Given the description of an element on the screen output the (x, y) to click on. 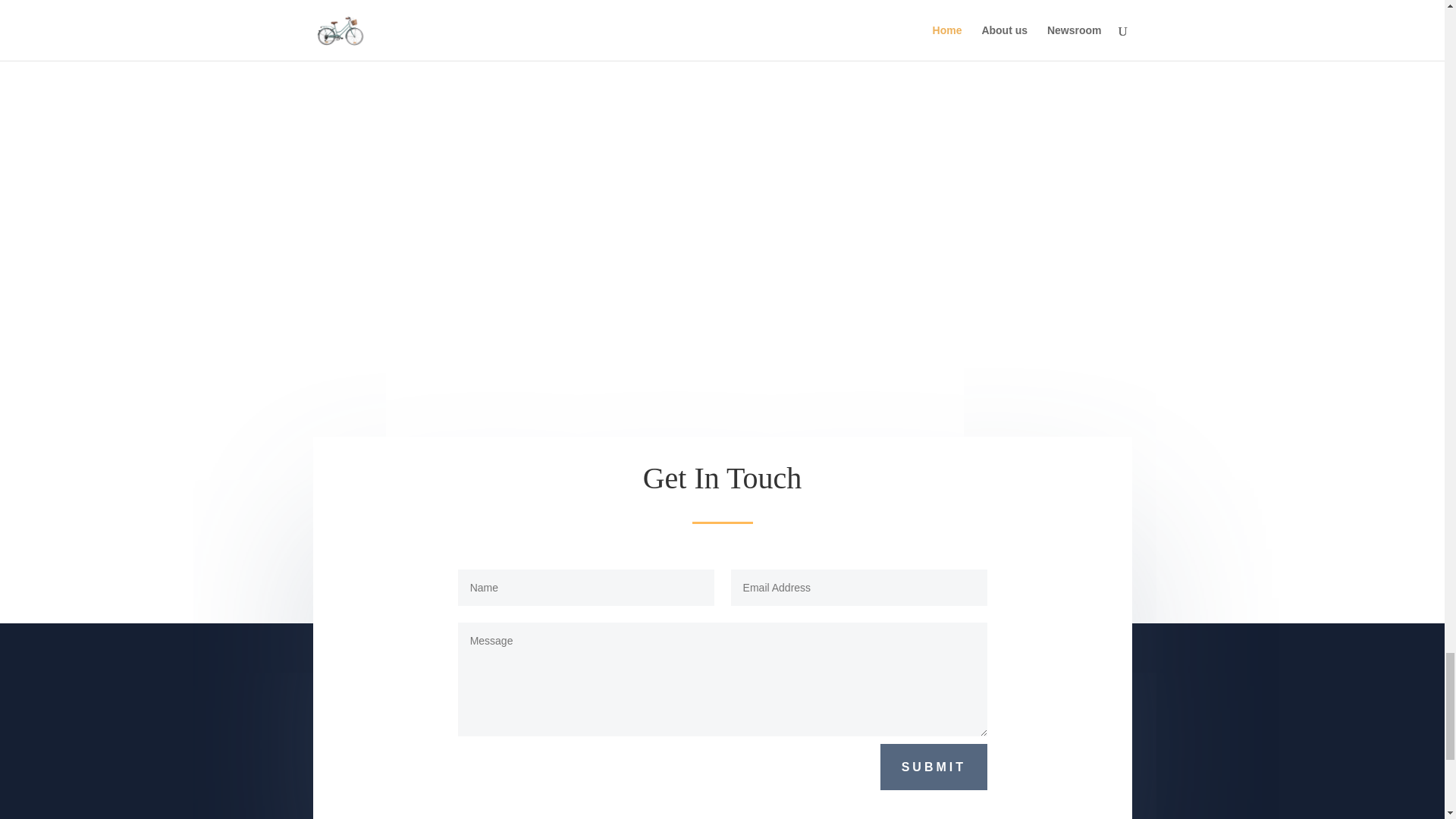
SUBMIT (933, 761)
